Given the description of an element on the screen output the (x, y) to click on. 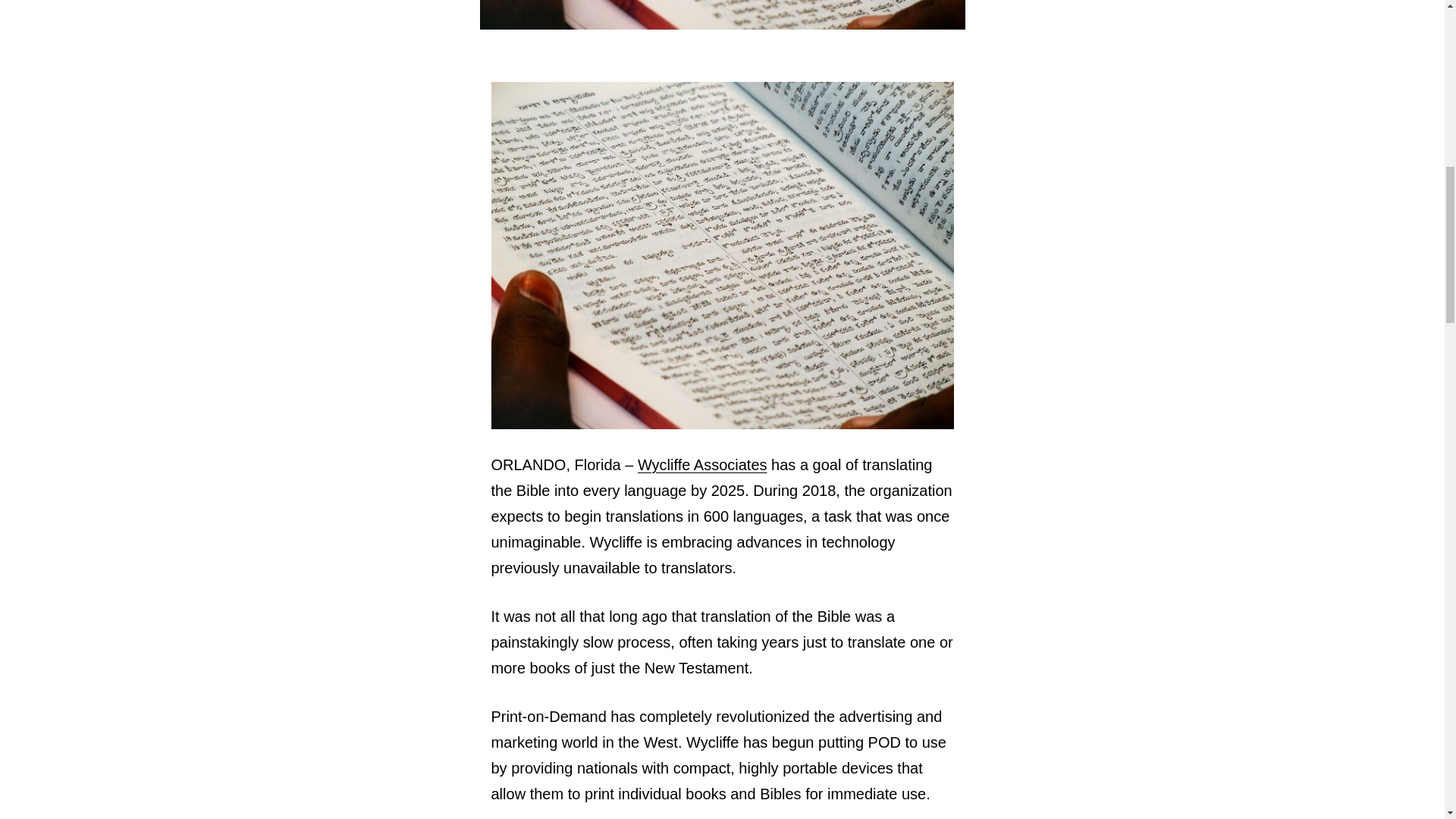
Wycliffe Associates (702, 464)
